Given the description of an element on the screen output the (x, y) to click on. 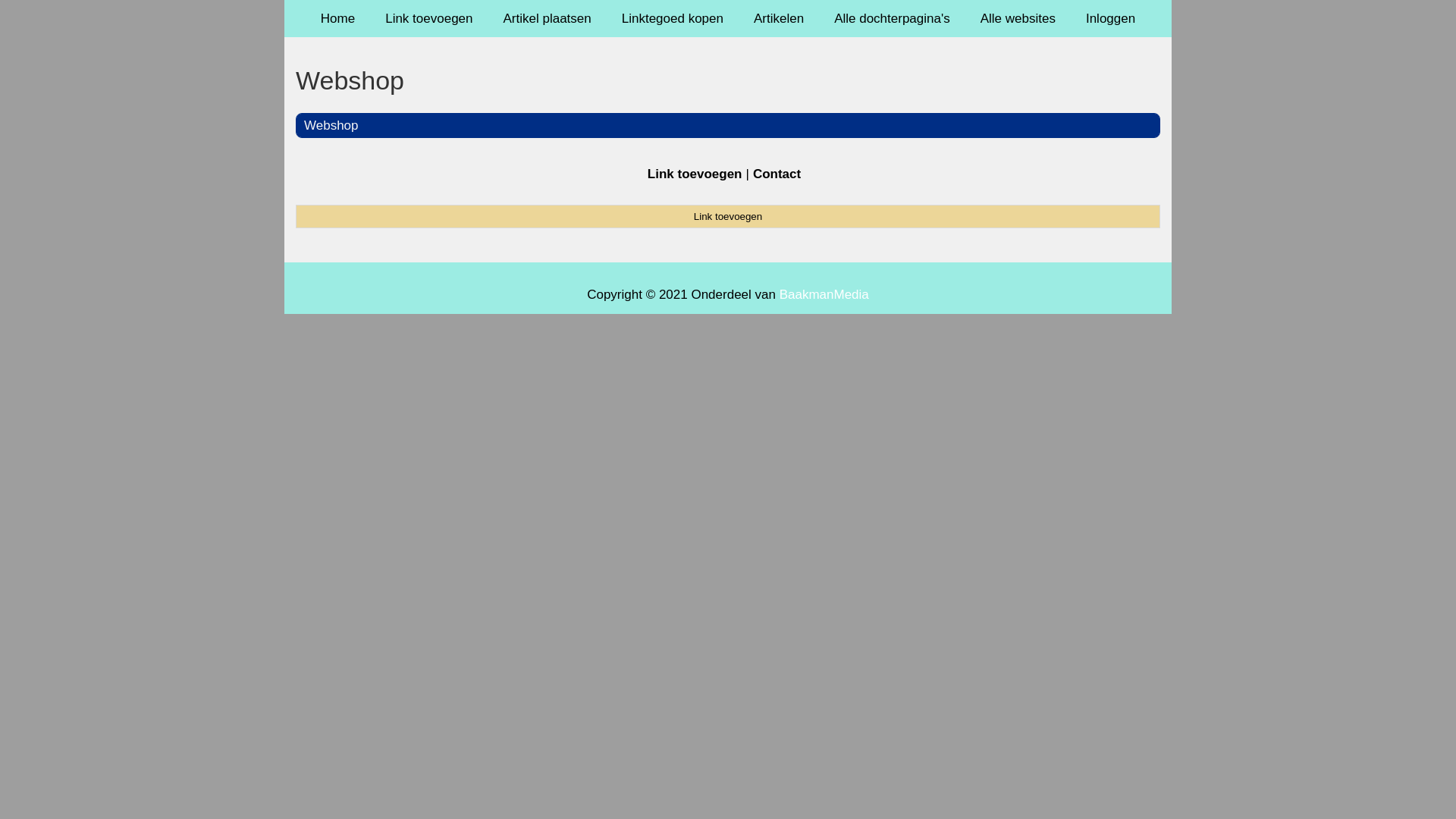
Inloggen Element type: text (1110, 18)
Artikel plaatsen Element type: text (547, 18)
Artikelen Element type: text (778, 18)
Alle websites Element type: text (1017, 18)
Webshop Element type: text (331, 125)
BaakmanMedia Element type: text (824, 294)
Alle dochterpagina's Element type: text (892, 18)
Linktegoed kopen Element type: text (672, 18)
Link toevoegen Element type: text (428, 18)
Link toevoegen Element type: text (727, 215)
Contact Element type: text (776, 173)
Link toevoegen Element type: text (694, 173)
Home Element type: text (337, 18)
Webshop Element type: text (727, 80)
